Given the description of an element on the screen output the (x, y) to click on. 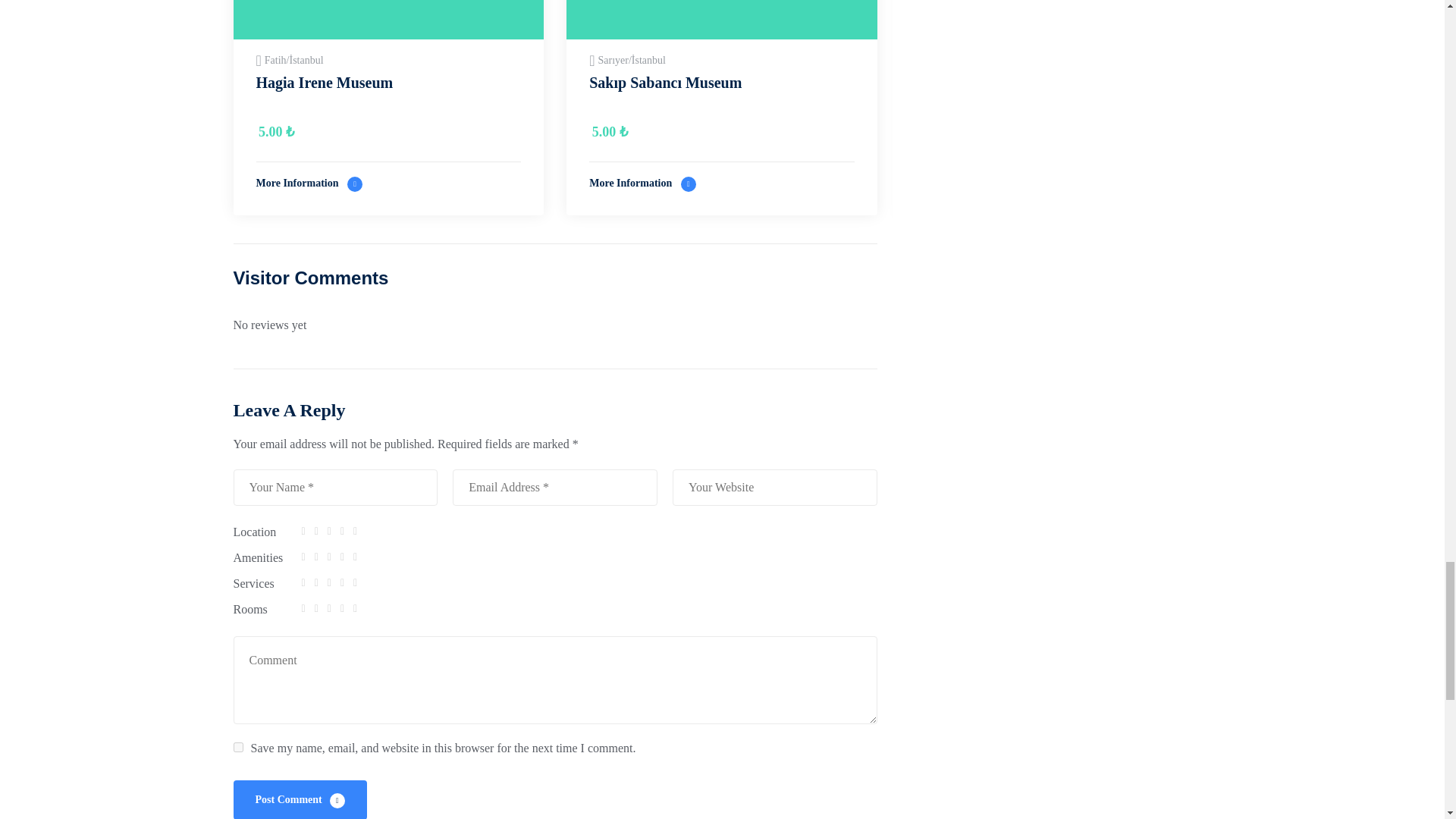
yes (237, 747)
